Given the description of an element on the screen output the (x, y) to click on. 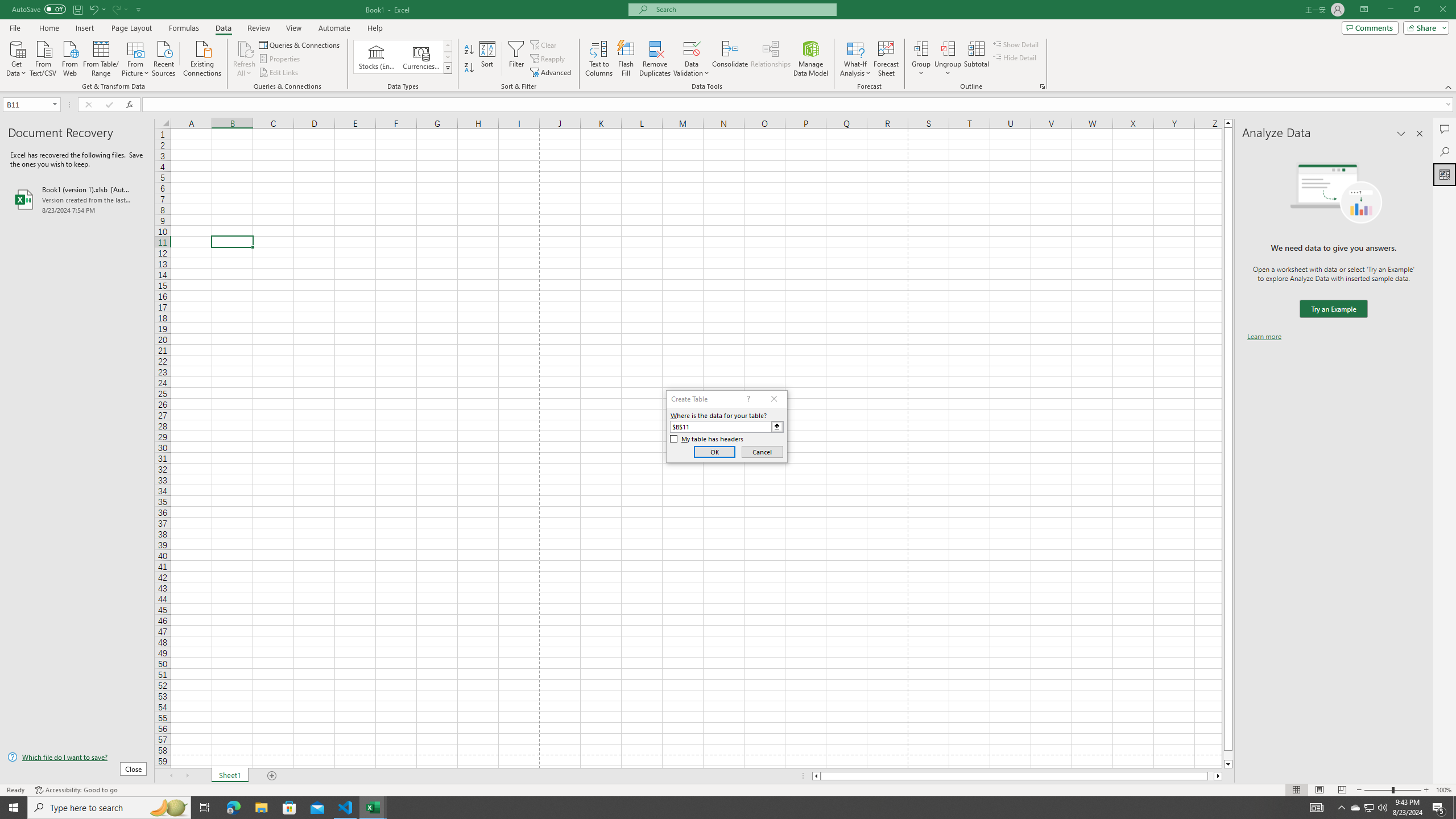
Properties (280, 58)
AutomationID: ConvertToLinkedEntity (403, 56)
Text to Columns... (598, 58)
From Table/Range (100, 57)
